Given the description of an element on the screen output the (x, y) to click on. 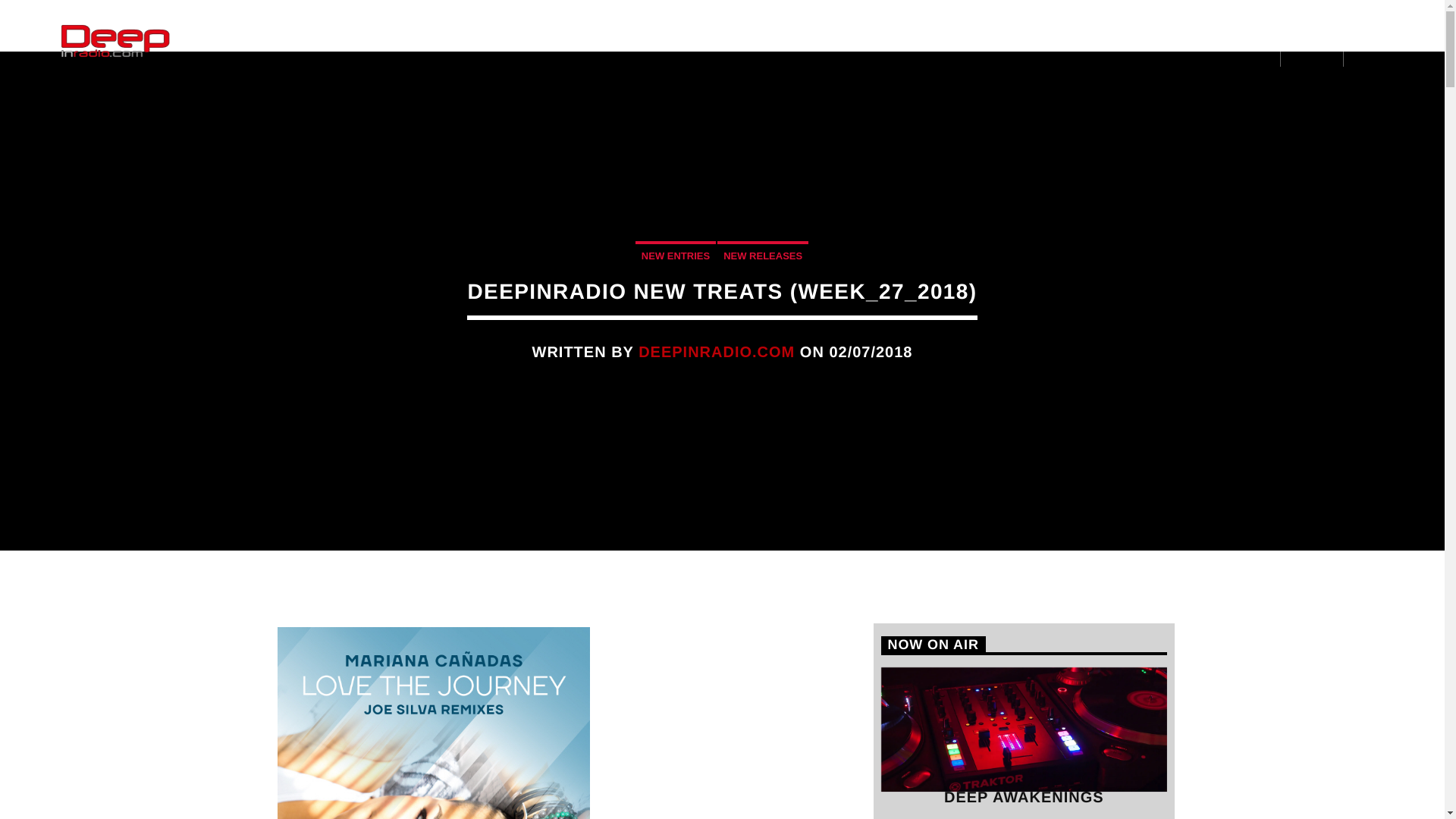
DEEPINRADIO.COM (716, 351)
Schedule (456, 40)
Posts by deepinradio.com (716, 351)
Search (1203, 82)
News (379, 40)
NEW ENTRIES (675, 254)
Shows (308, 40)
NEW RELEASES (762, 254)
Home (236, 40)
Contact (541, 40)
